Given the description of an element on the screen output the (x, y) to click on. 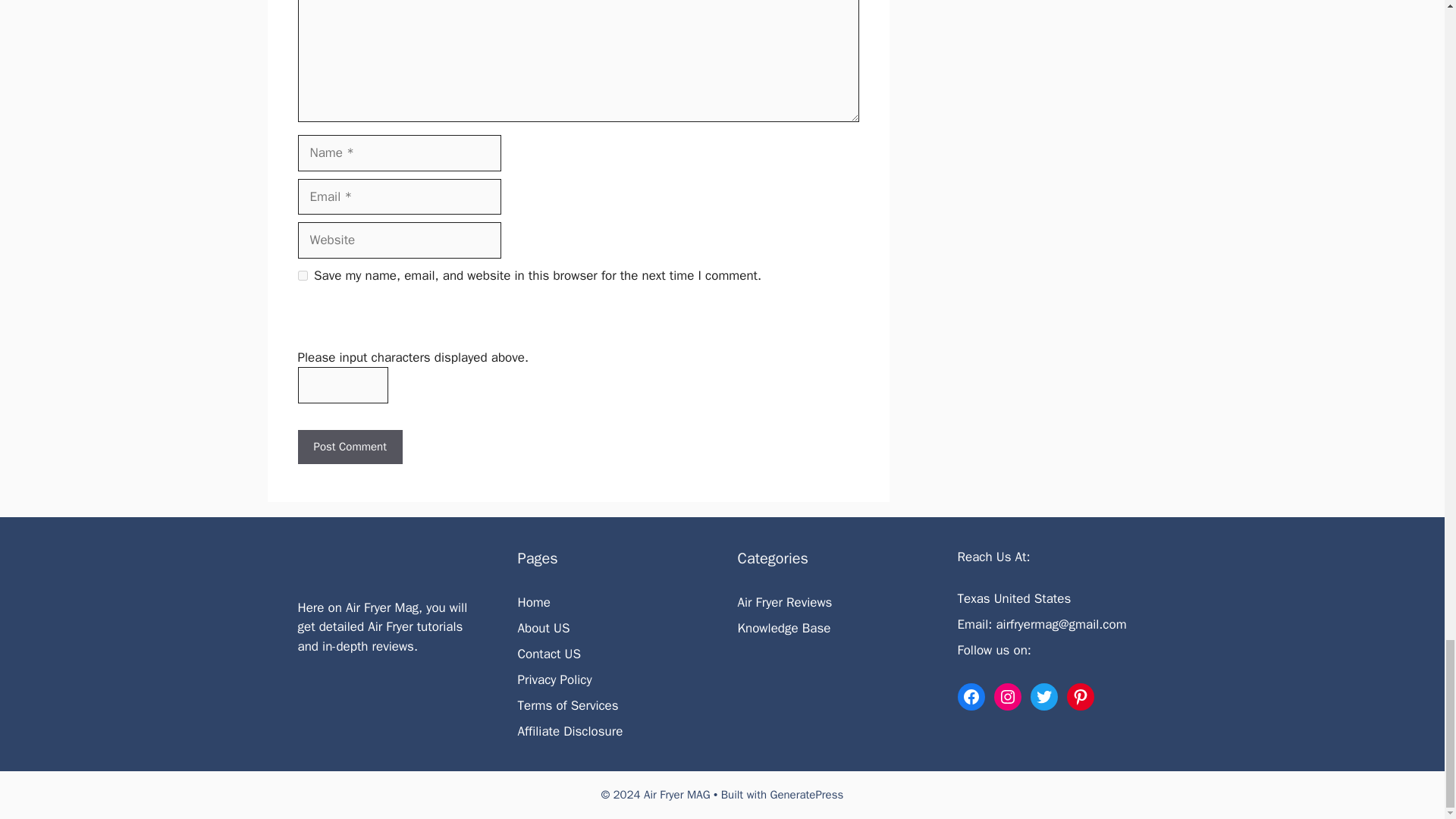
yes (302, 275)
Post Comment (349, 446)
